Given the description of an element on the screen output the (x, y) to click on. 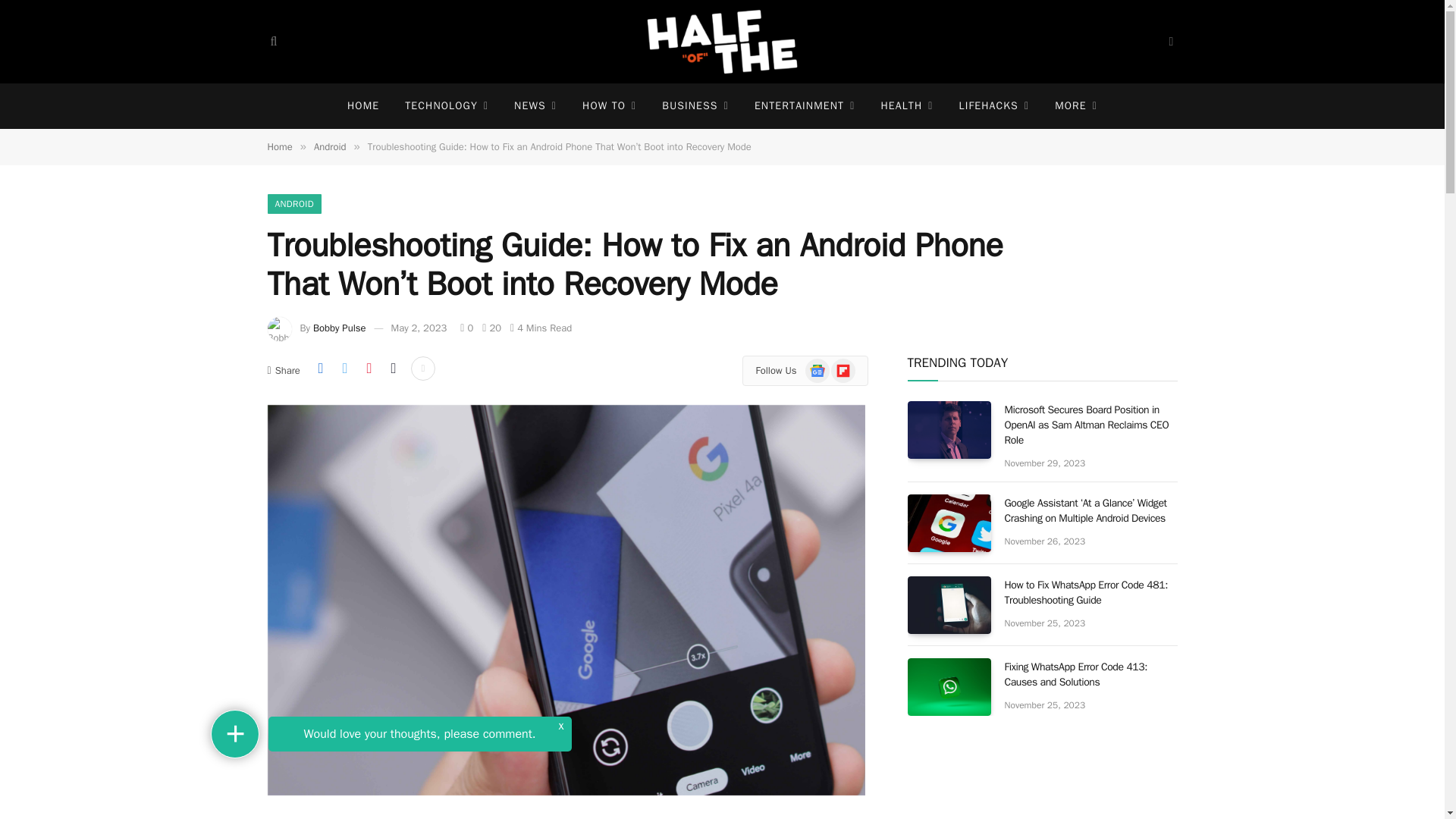
Switch to Dark Design - easier on eyes. (1168, 41)
HalfofThe (722, 41)
